Given the description of an element on the screen output the (x, y) to click on. 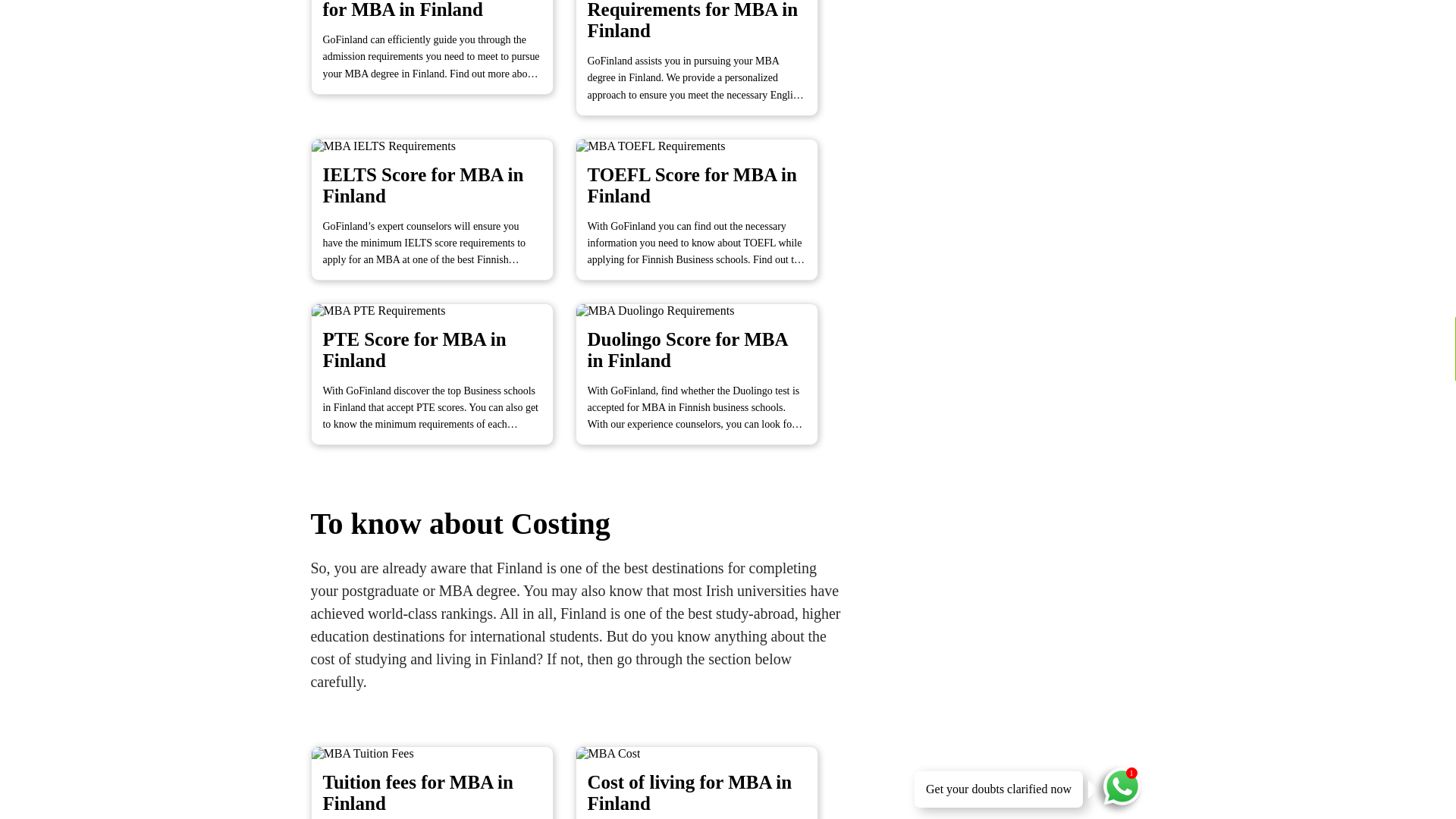
MBA Cost (705, 782)
MBA Tuition Fees (441, 782)
MBA Duolingo Score (705, 385)
MBA PTE Score (441, 385)
MBA IELTS Score (441, 220)
MBA English Language Requirements (705, 69)
MBA Admission Requirements (441, 58)
MBA TOEFL Score (705, 220)
